Given the description of an element on the screen output the (x, y) to click on. 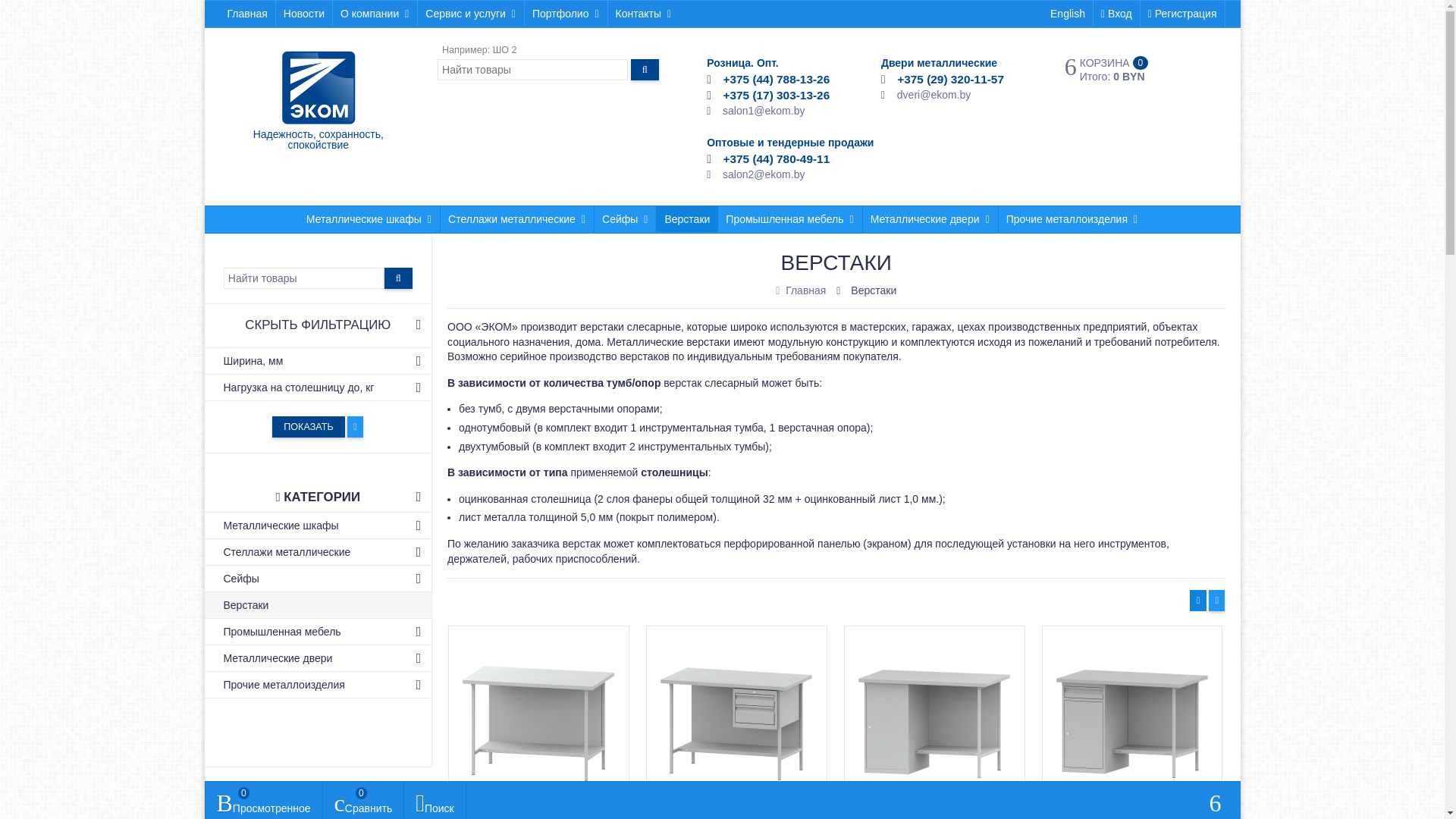
+375 (17) 303-13-26 Element type: text (775, 94)
salon2@ekom.by Element type: text (763, 174)
+375 (44) 780-49-11 Element type: text (775, 158)
+375 (44) 788-13-26 Element type: text (775, 78)
English Element type: text (1067, 13)
+375 (29) 320-11-57 Element type: text (950, 78)
dveri@ekom.by Element type: text (933, 94)
salon1@ekom.by Element type: text (763, 110)
